Given the description of an element on the screen output the (x, y) to click on. 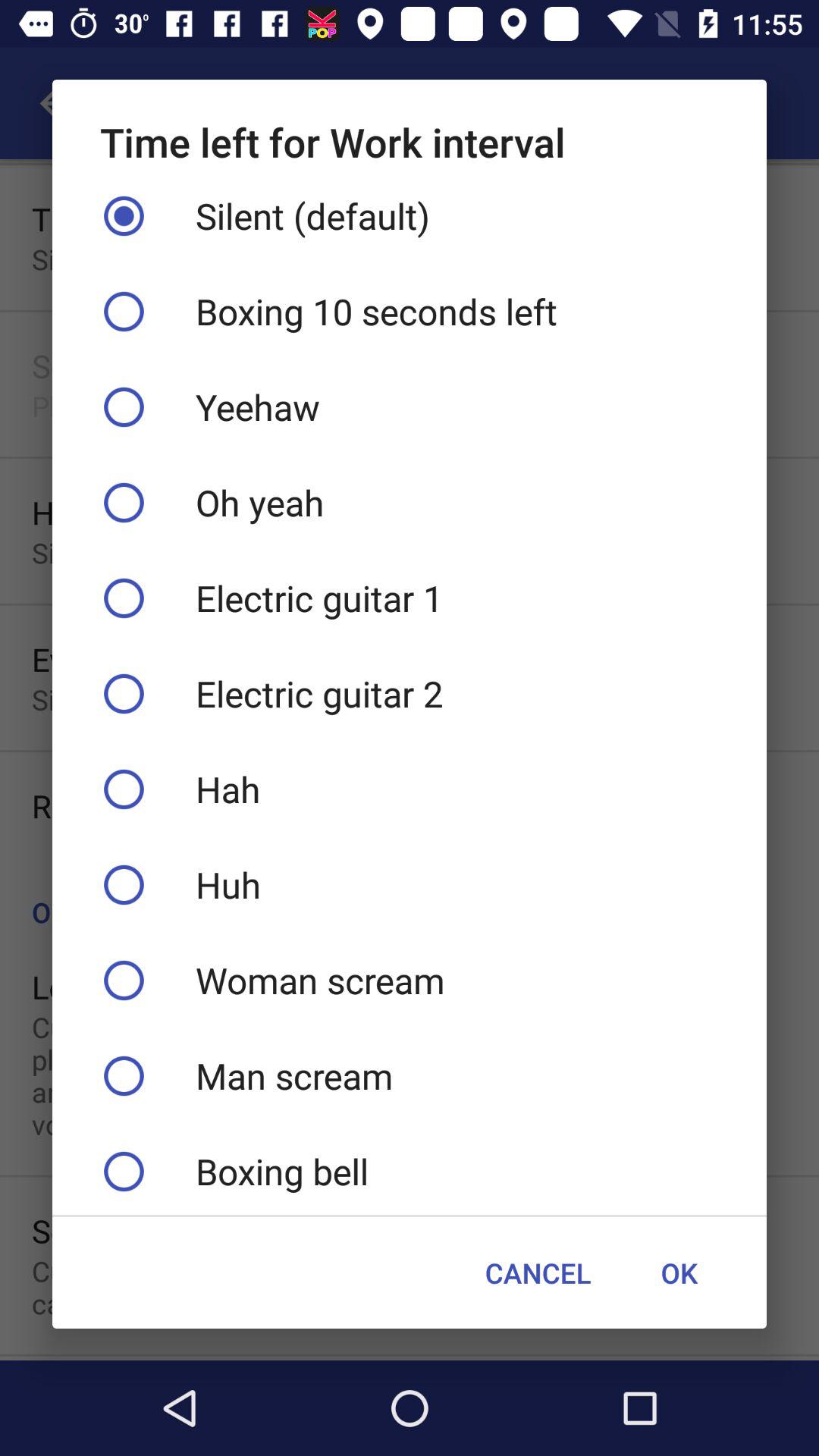
launch item to the left of the ok icon (538, 1272)
